Given the description of an element on the screen output the (x, y) to click on. 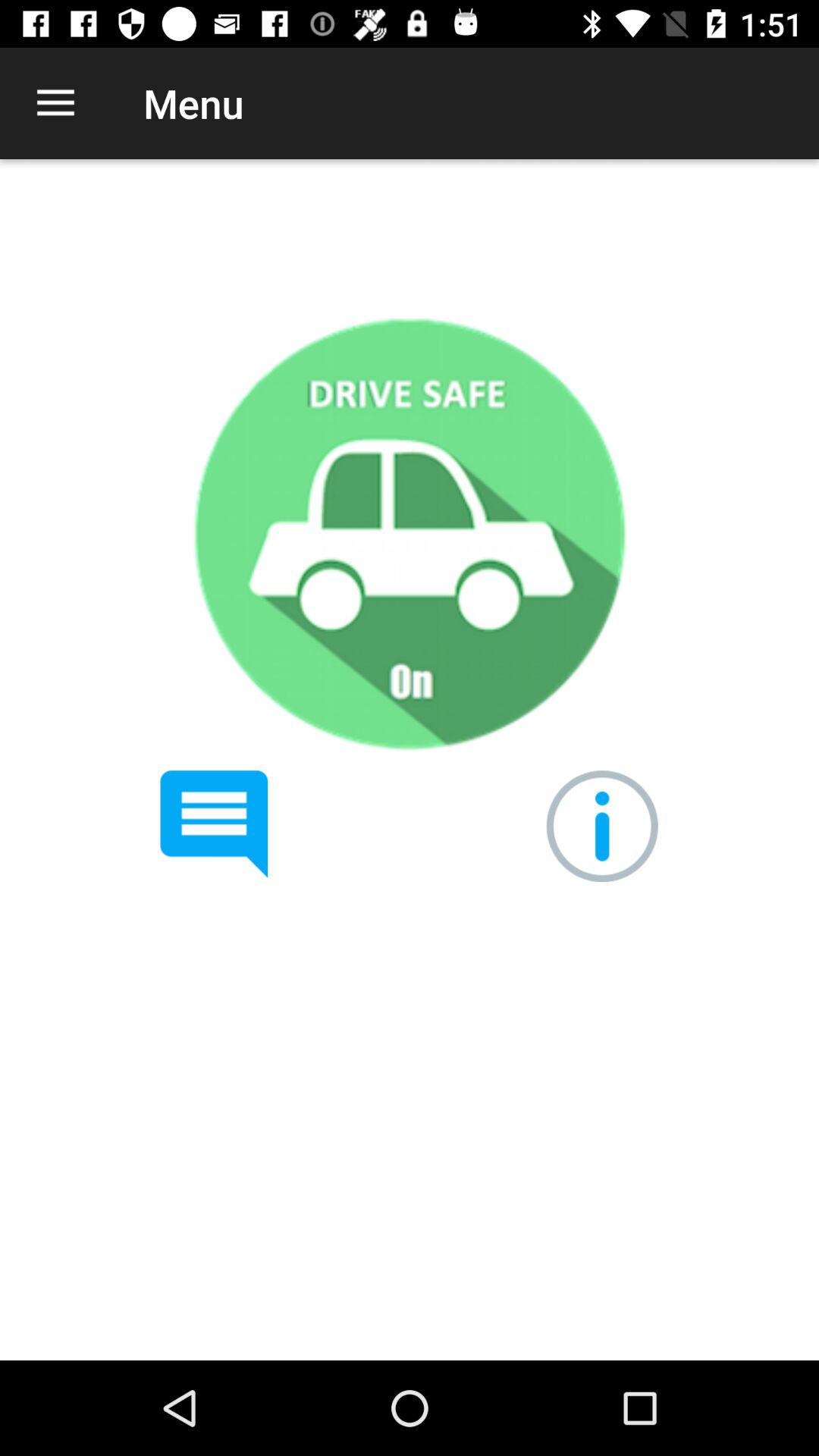
open the icon on the left (213, 824)
